Given the description of an element on the screen output the (x, y) to click on. 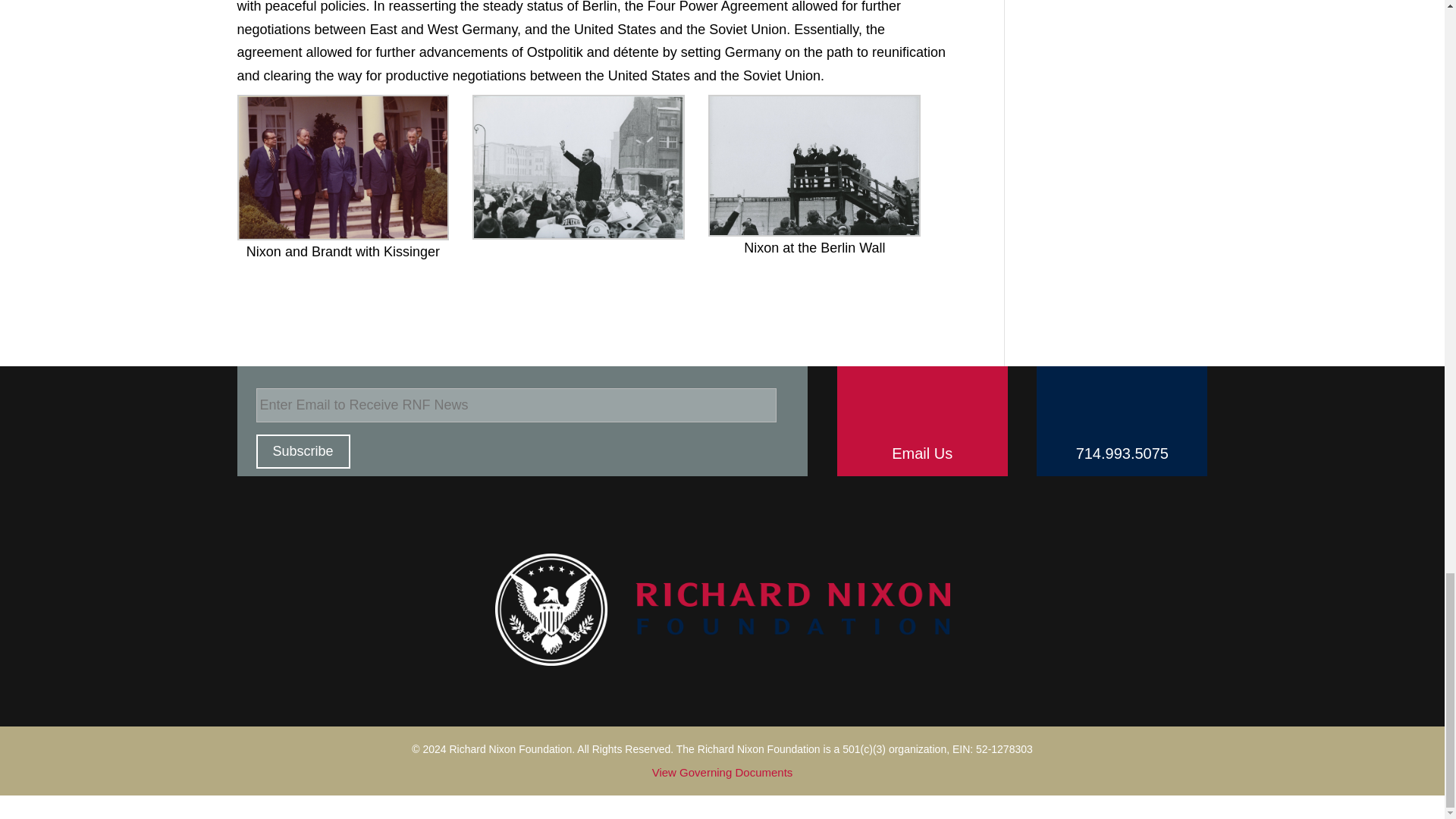
Subscribe (303, 451)
